Given the description of an element on the screen output the (x, y) to click on. 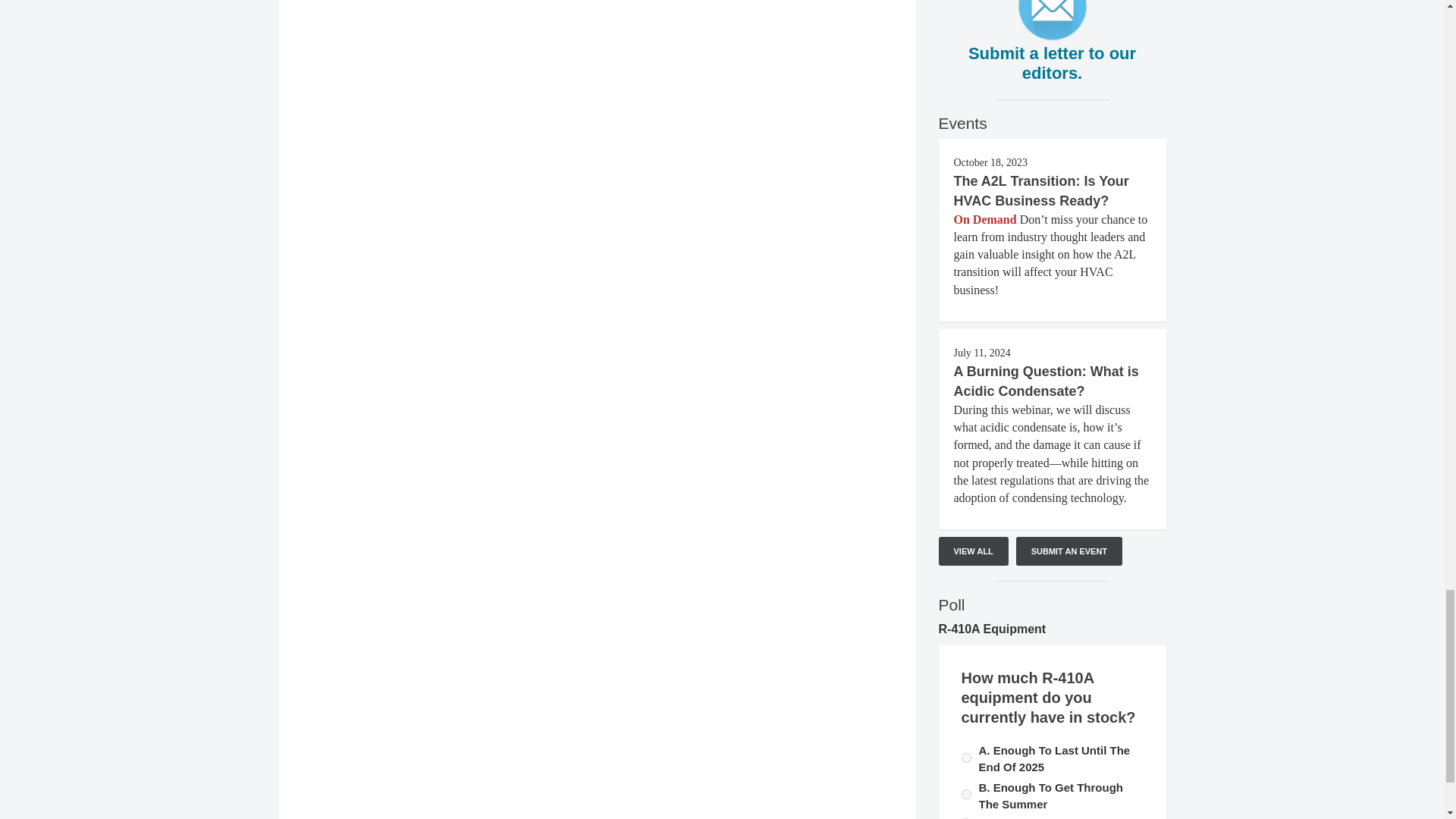
597 (965, 757)
596 (965, 794)
